Given the description of an element on the screen output the (x, y) to click on. 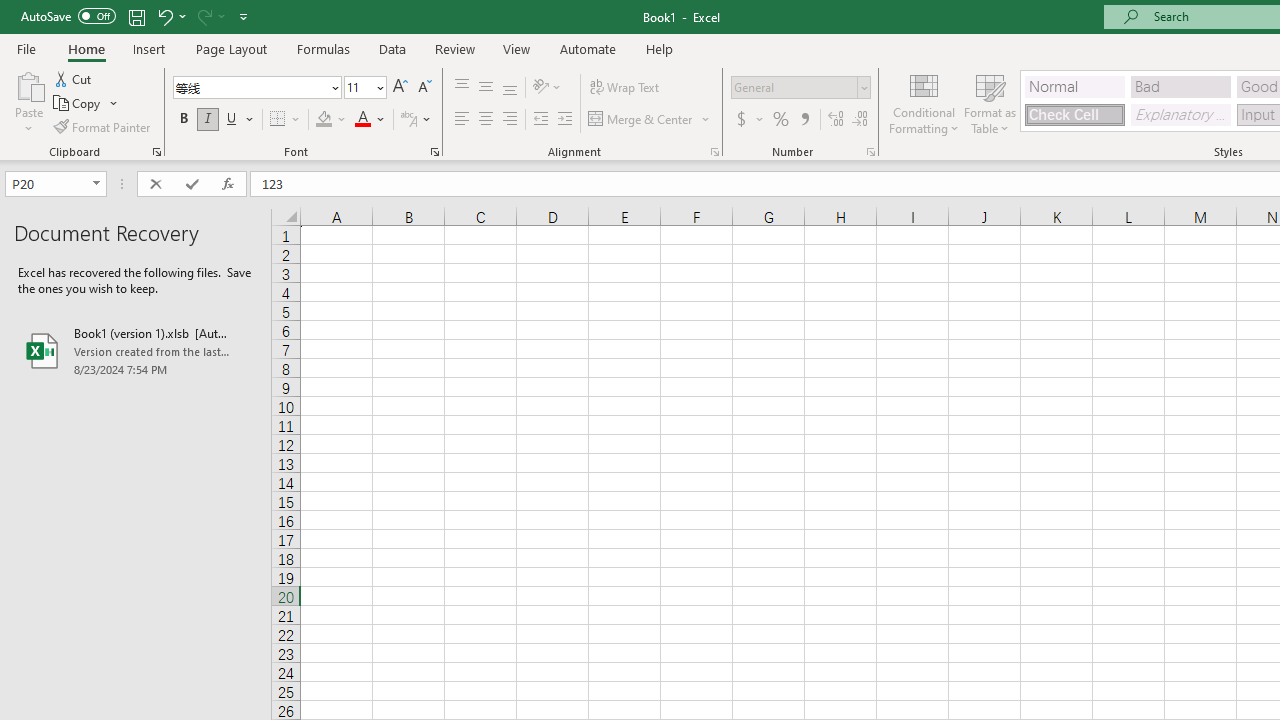
Data (392, 48)
Copy (85, 103)
Comma Style (804, 119)
Bold (183, 119)
Office Clipboard... (156, 151)
Font Color RGB(255, 0, 0) (362, 119)
AutoSave (68, 16)
Format Painter (103, 126)
Accounting Number Format (749, 119)
Home (86, 48)
Cut (73, 78)
Check Cell (1074, 114)
Bad (1180, 86)
View (517, 48)
